Given the description of an element on the screen output the (x, y) to click on. 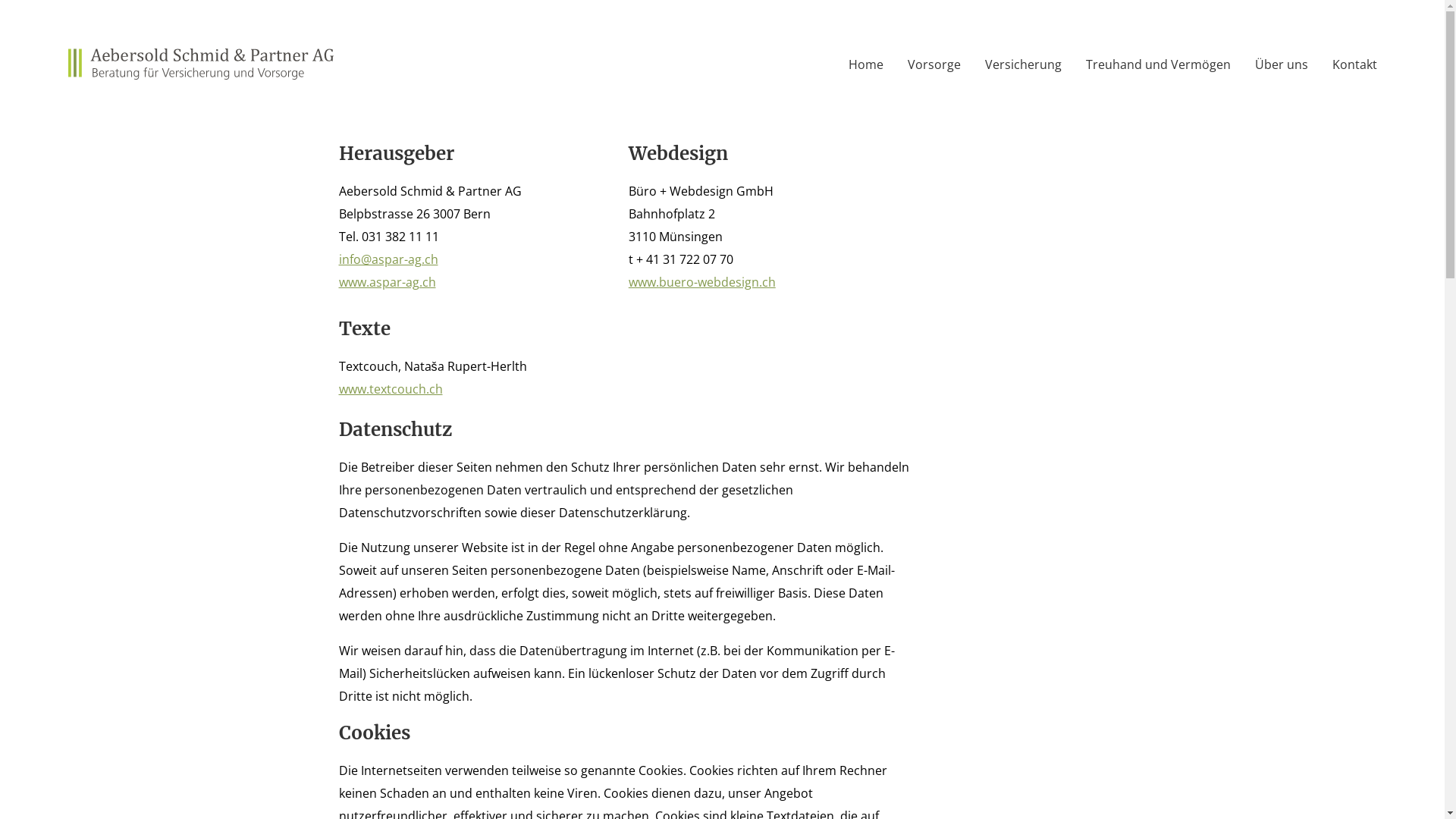
Vorsorge Element type: text (933, 64)
info@aspar-ag.ch Element type: text (387, 259)
www.buero-webdesign.ch Element type: text (701, 281)
Versicherung Element type: text (1022, 64)
www.textcouch.ch Element type: text (390, 388)
Kontakt Element type: text (1350, 64)
Home Element type: text (864, 64)
www.aspar-ag.ch Element type: text (386, 281)
